Given the description of an element on the screen output the (x, y) to click on. 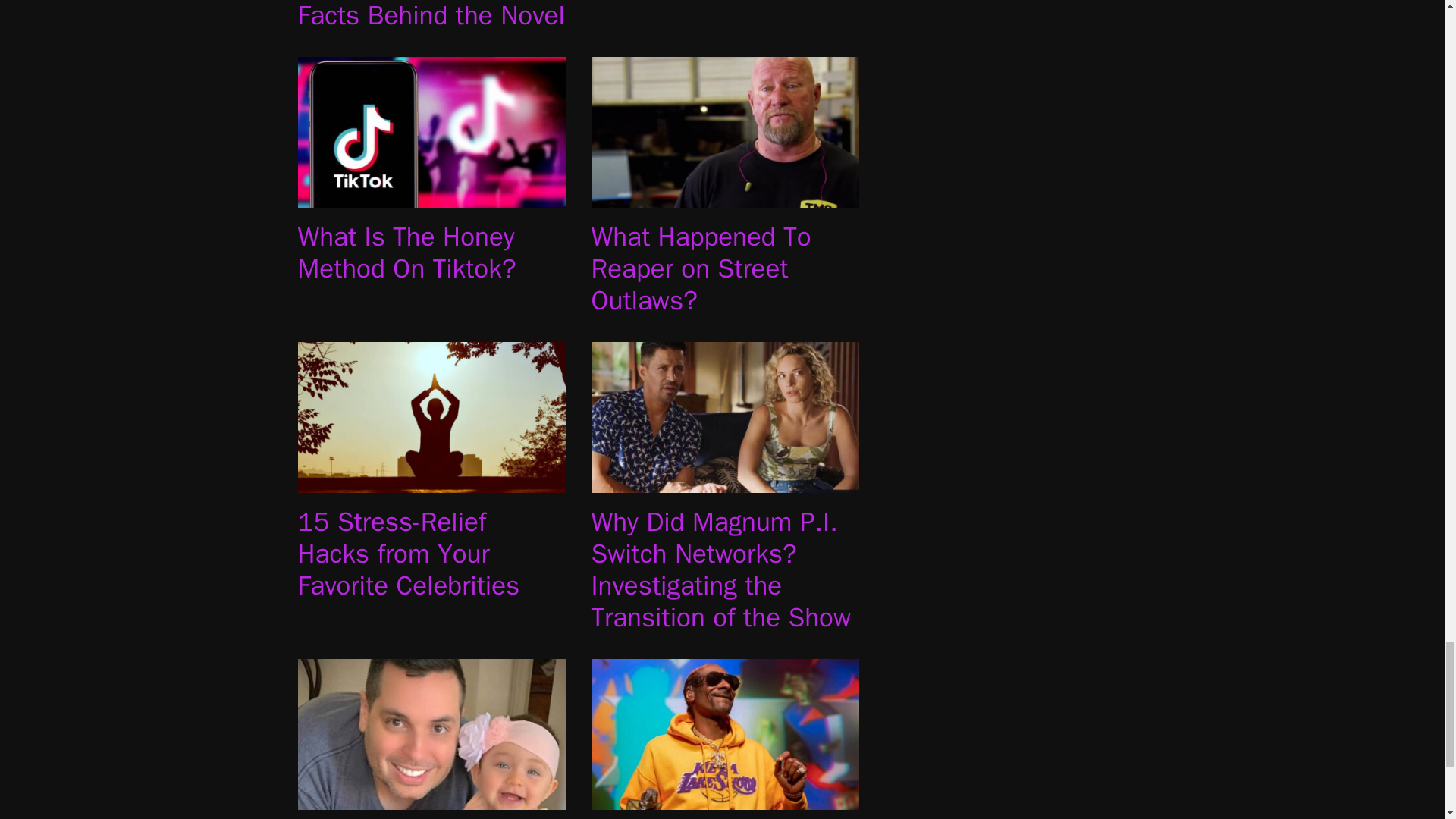
What Happened To Reaper on Street Outlaws? (725, 197)
15 Stress-Relief Hacks from Your Favorite Celebrities (408, 553)
What Happened To Reaper on Street Outlaws? (700, 268)
What Is The Honey Method On Tiktok? (430, 197)
15 Stress-Relief Hacks from Your Favorite Celebrities (430, 482)
What Is The Honey Method On Tiktok? (406, 252)
